Given the description of an element on the screen output the (x, y) to click on. 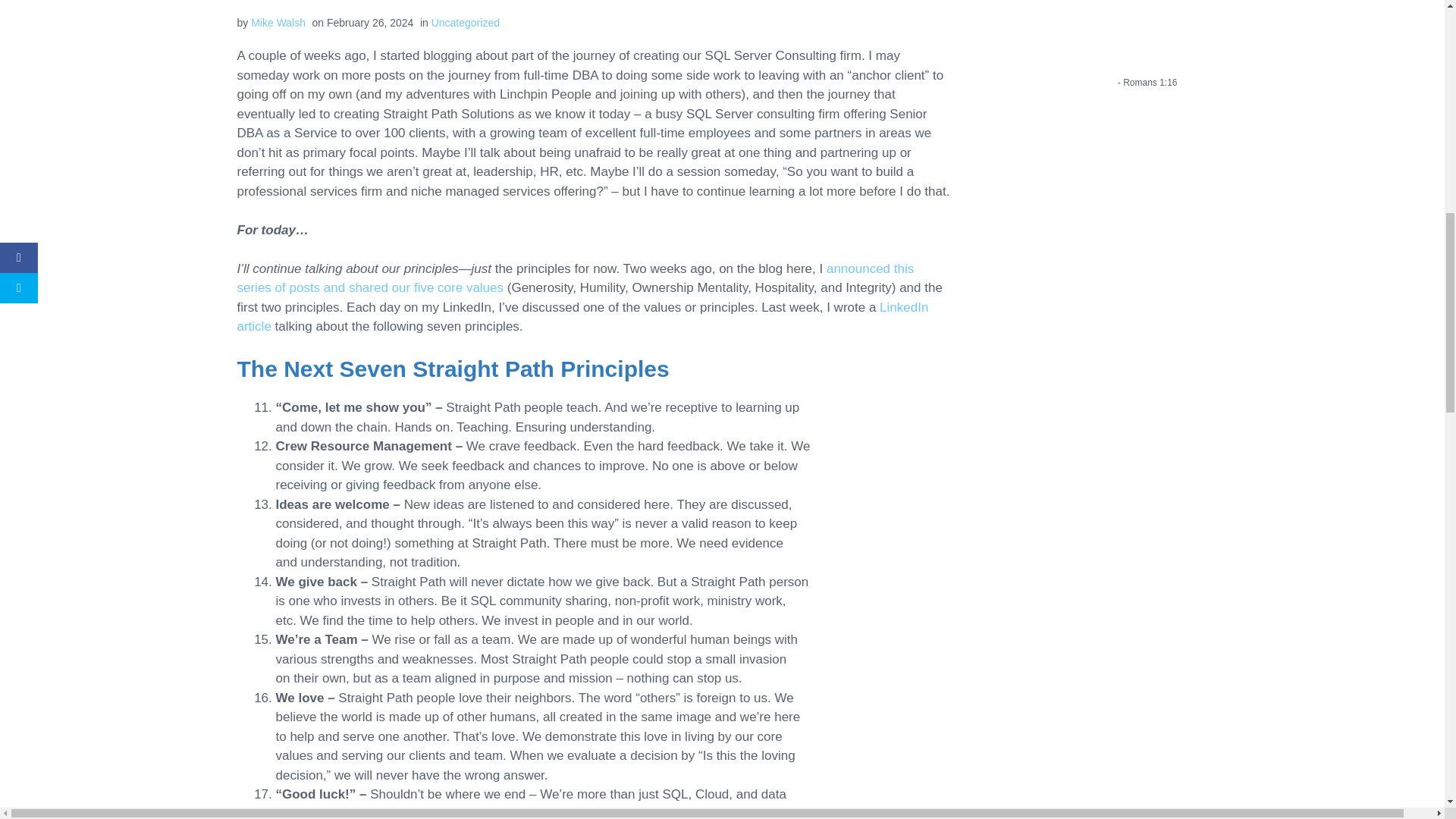
Mike Walsh (277, 22)
Uncategorized (464, 22)
LinkedIn article (581, 317)
